Given the description of an element on the screen output the (x, y) to click on. 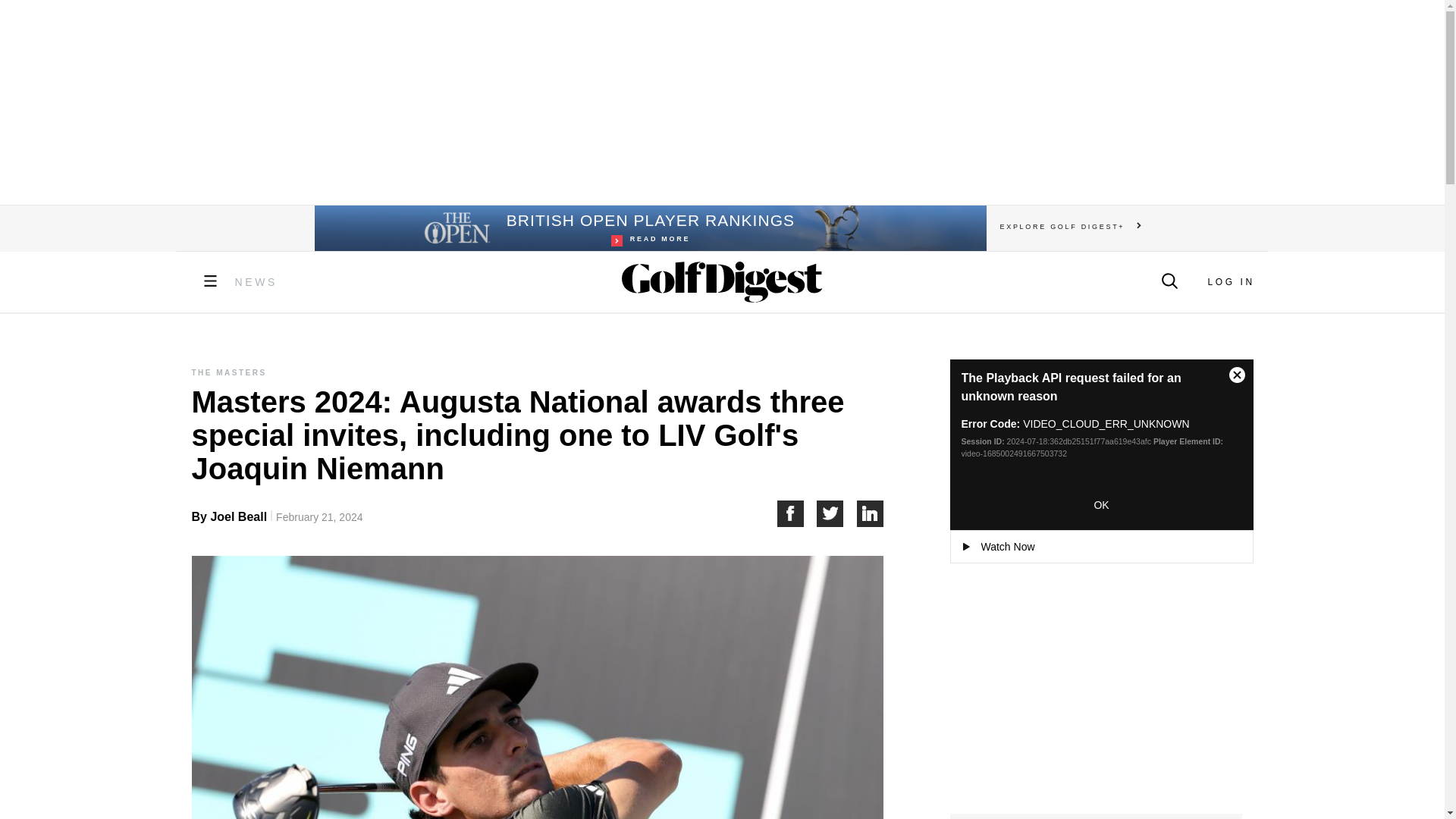
NEWS (256, 282)
Share on LinkedIn (870, 513)
LOG IN (649, 227)
3rd party ad content (1230, 281)
Share on Facebook (721, 101)
Share on Twitter (796, 513)
